Given the description of an element on the screen output the (x, y) to click on. 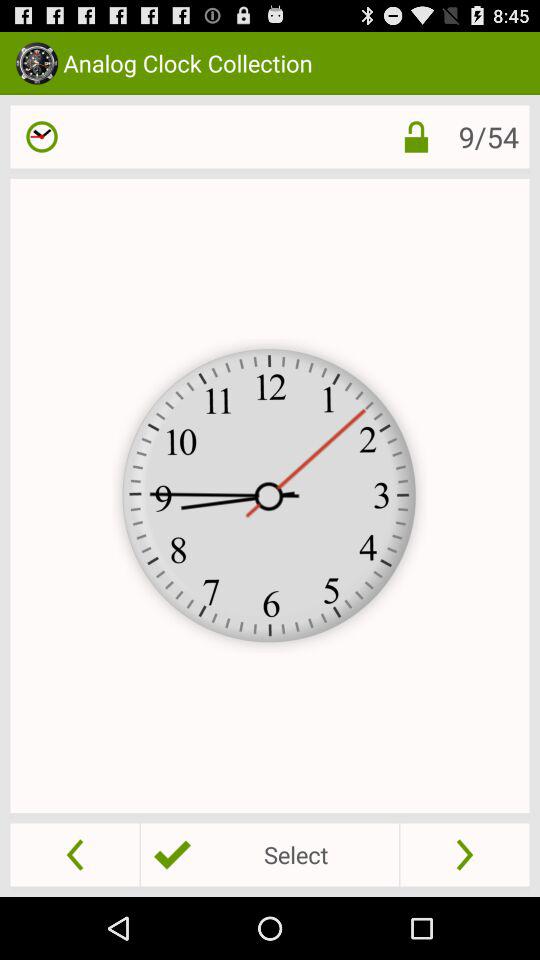
go back (74, 854)
